Given the description of an element on the screen output the (x, y) to click on. 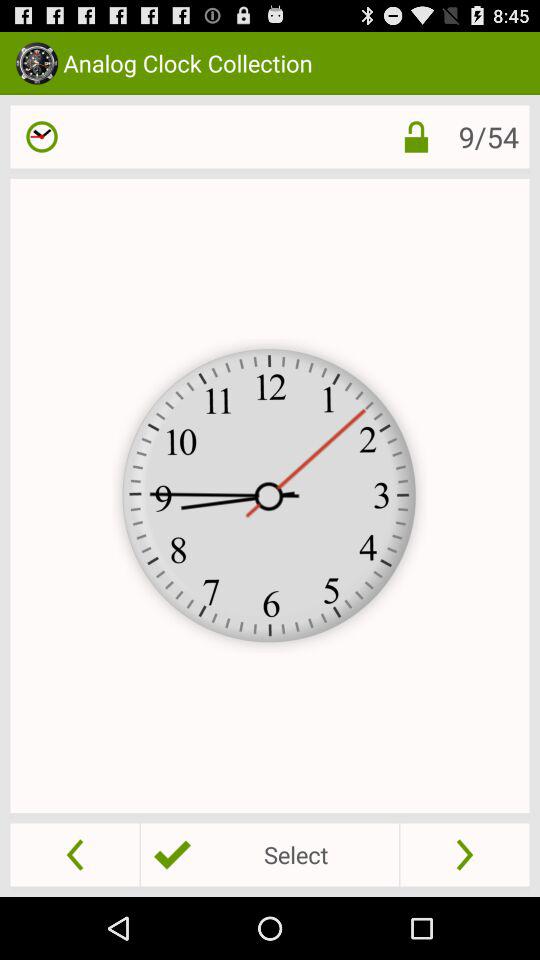
go back (74, 854)
